Given the description of an element on the screen output the (x, y) to click on. 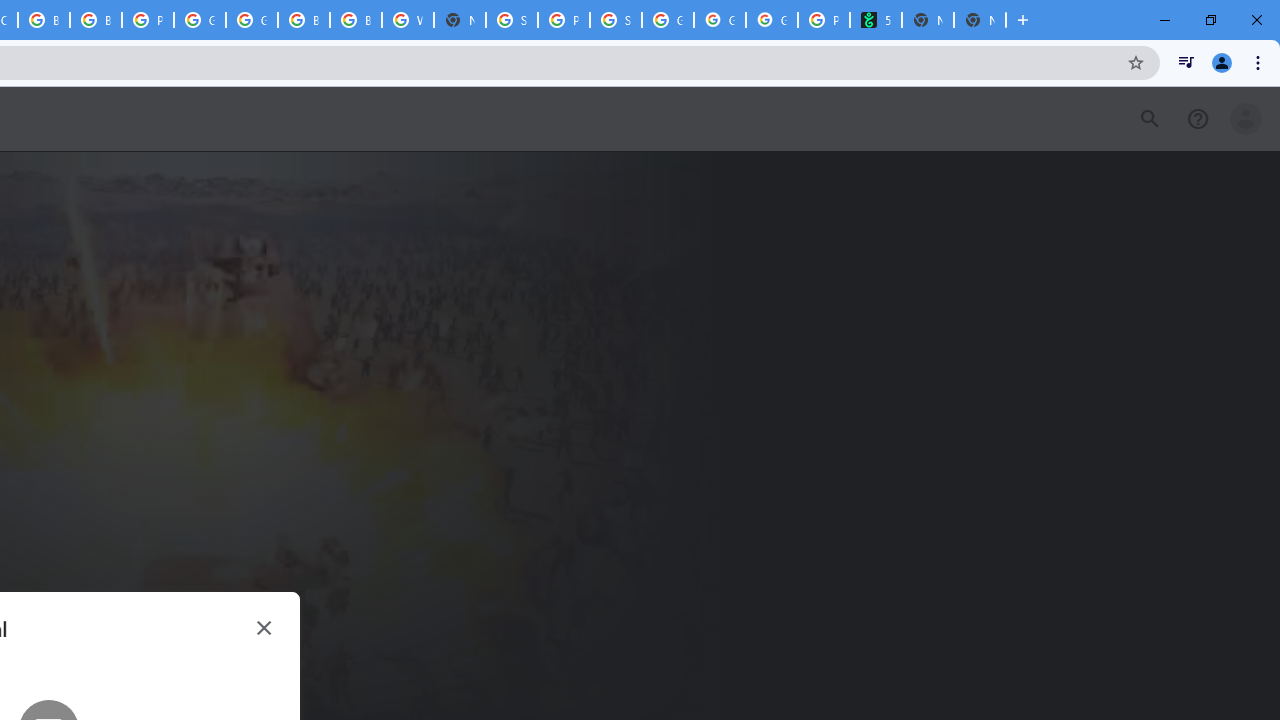
New Tab (459, 20)
Browse Chrome as a guest - Computer - Google Chrome Help (43, 20)
